Given the description of an element on the screen output the (x, y) to click on. 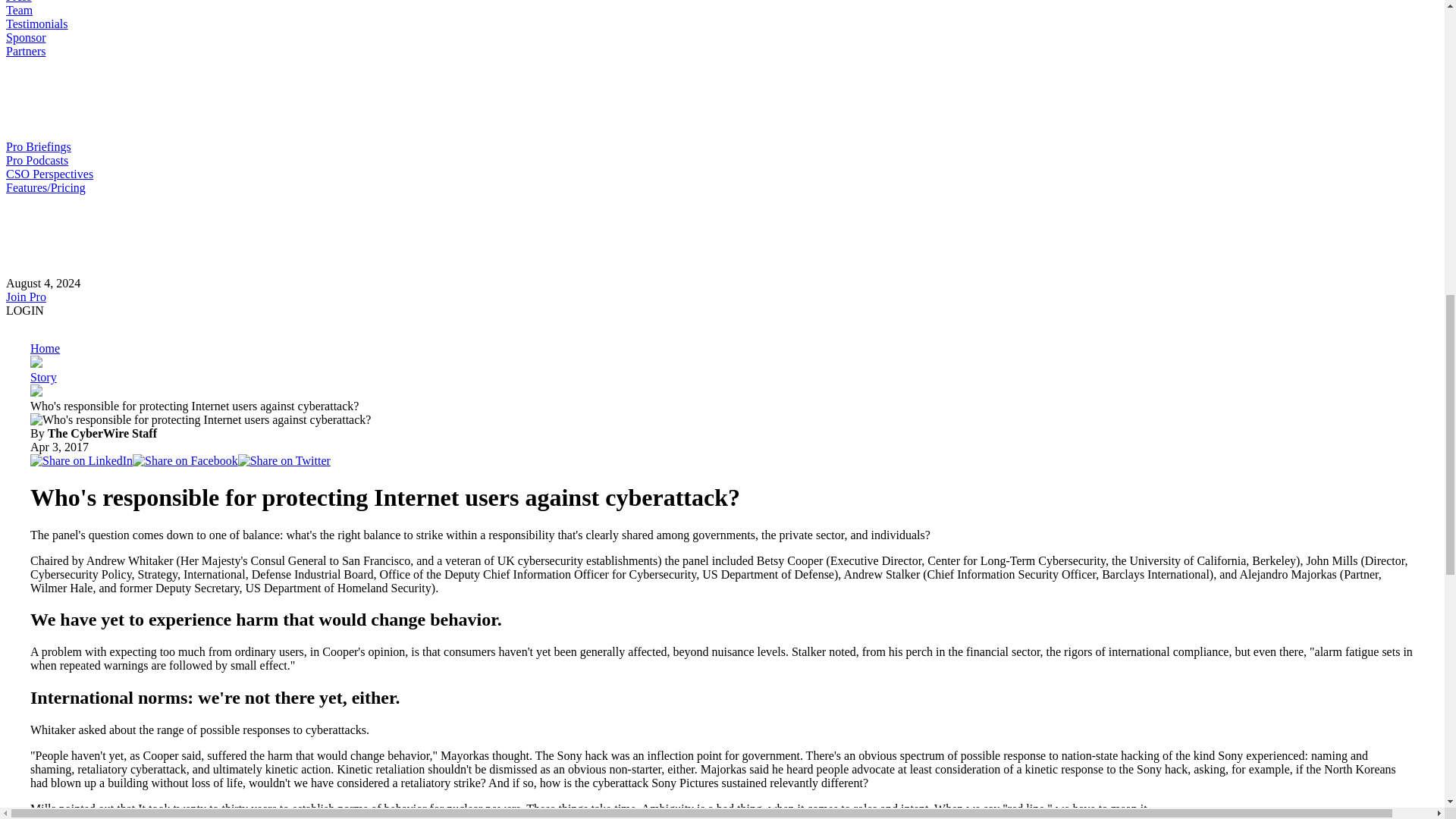
Pro Briefings (38, 146)
Team (18, 10)
Testimonials (36, 23)
Partners (25, 51)
Sponsor (25, 37)
Press (18, 1)
